Given the description of an element on the screen output the (x, y) to click on. 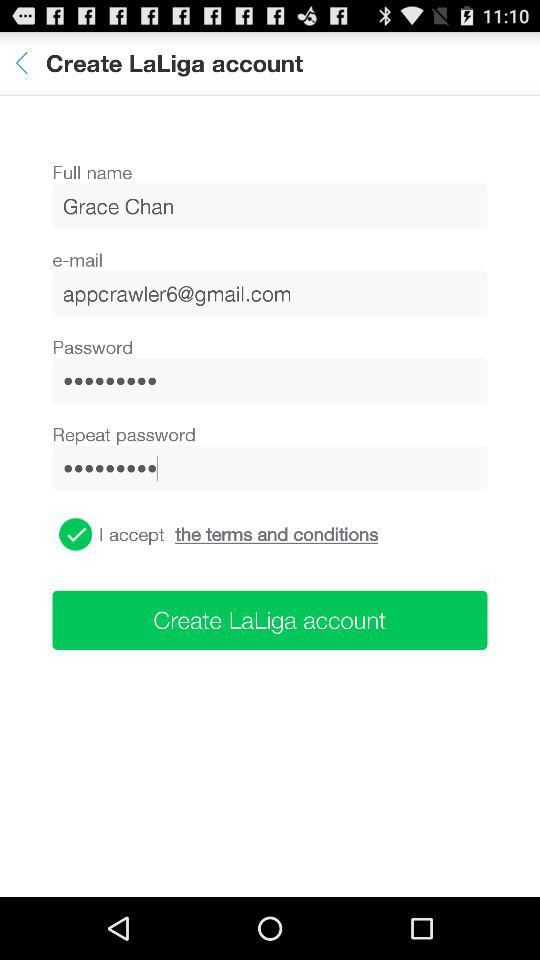
tap appcrawler6@gmail.com (269, 293)
